Given the description of an element on the screen output the (x, y) to click on. 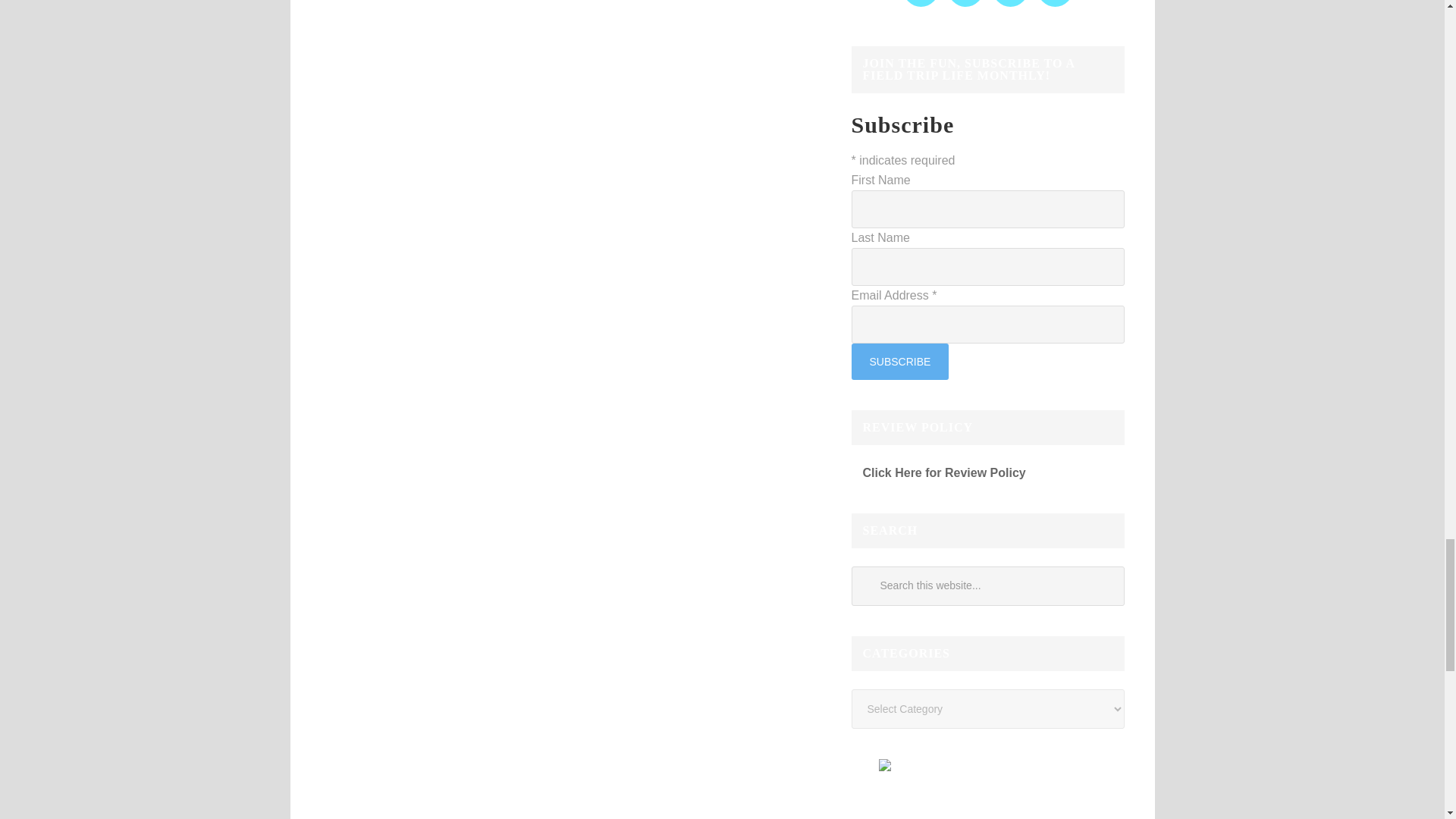
Subscribe (899, 361)
Click Here for Review Policy (937, 472)
Subscribe (899, 361)
